Given the description of an element on the screen output the (x, y) to click on. 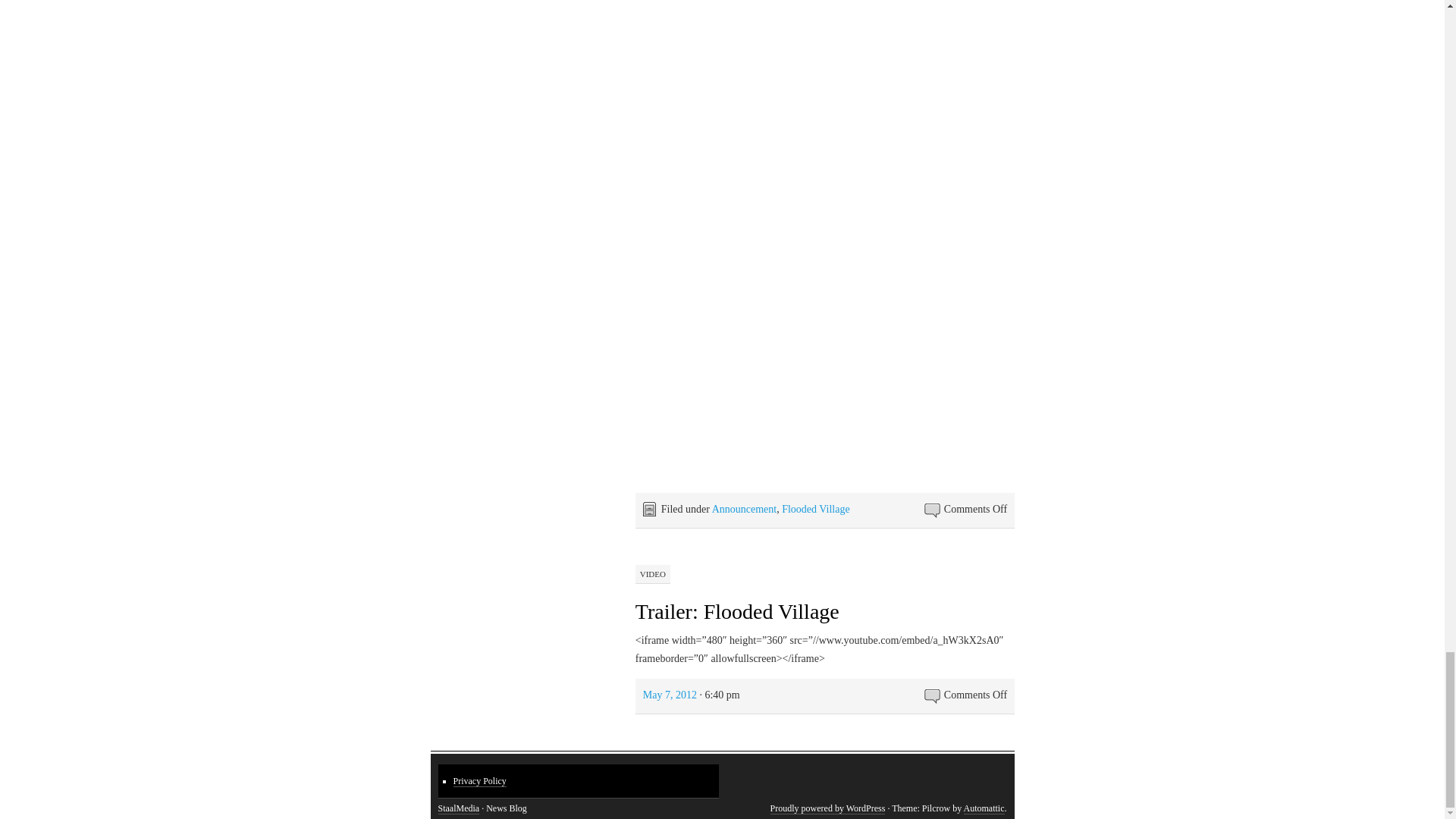
All Video posts (652, 573)
A Semantic Personal Publishing Platform (827, 808)
StaalMedia (459, 808)
